Given the description of an element on the screen output the (x, y) to click on. 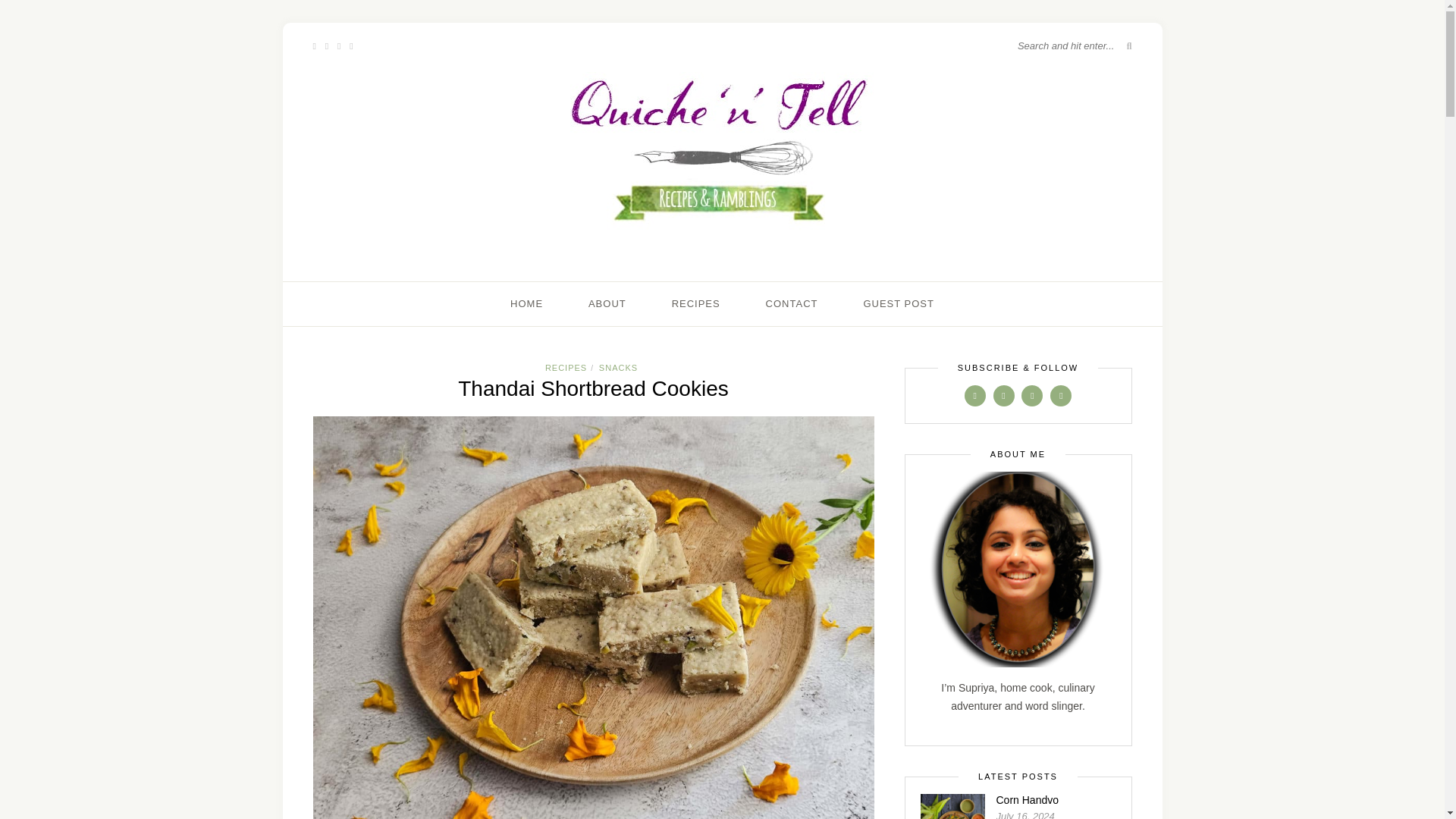
SNACKS (617, 367)
RECIPES (695, 303)
CONTACT (791, 303)
GUEST POST (898, 303)
RECIPES (565, 367)
